Given the description of an element on the screen output the (x, y) to click on. 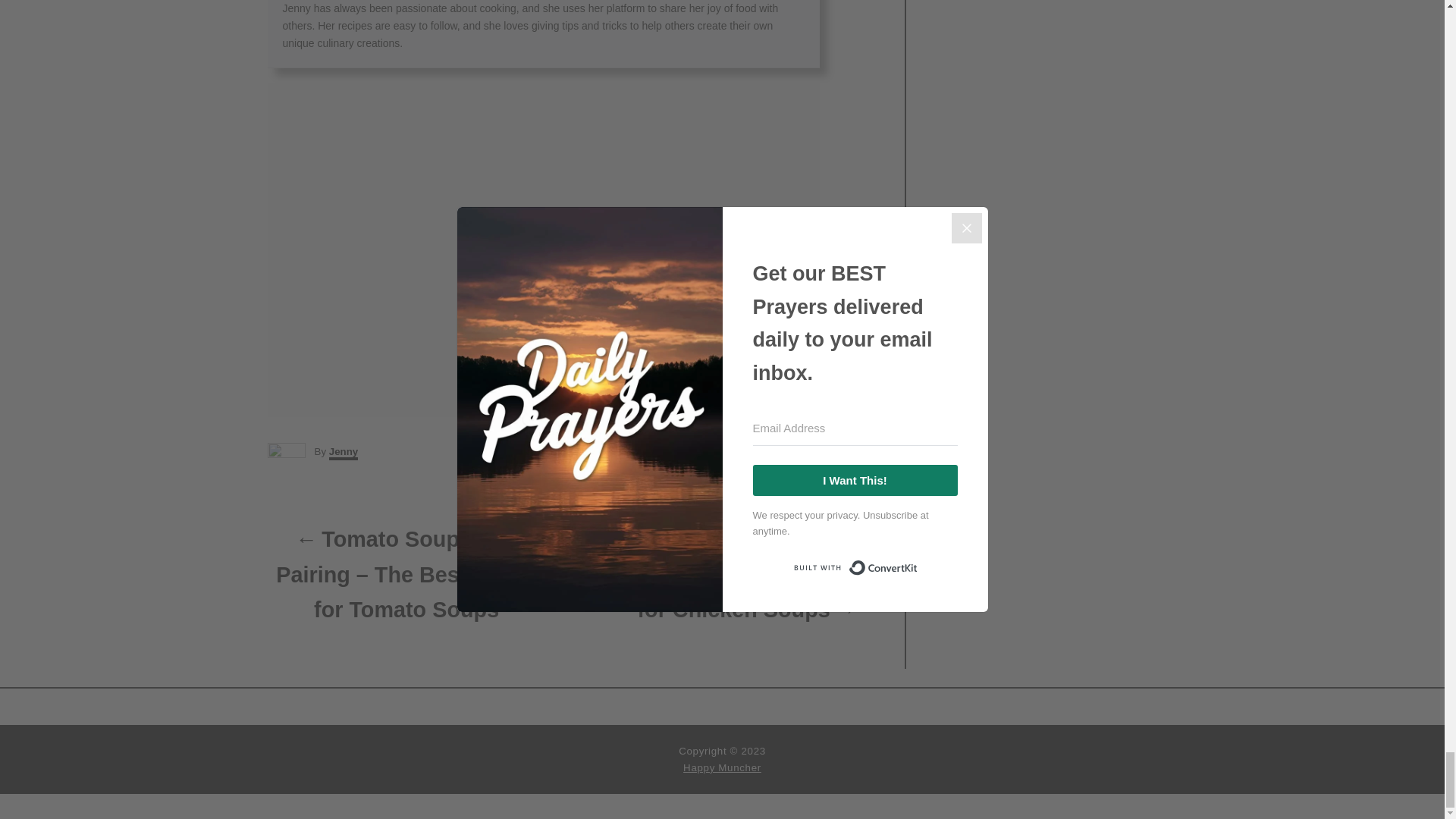
Happy Muncher (721, 767)
Jenny (343, 452)
